Given the description of an element on the screen output the (x, y) to click on. 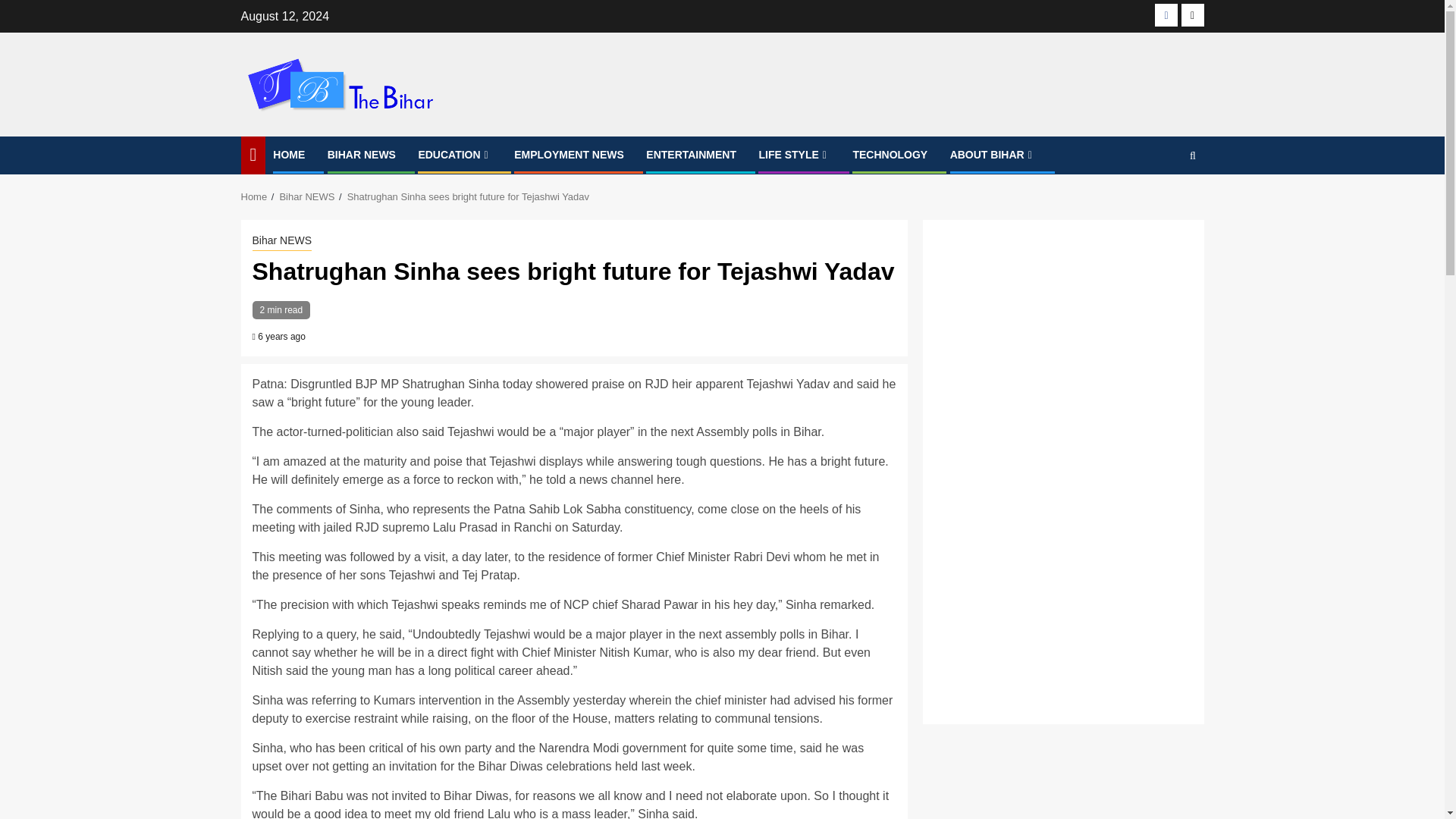
EDUCATION (454, 154)
HOME (288, 154)
Bihar NEWS (281, 240)
ENTERTAINMENT (691, 154)
Home (254, 196)
Twitter (1192, 15)
BIHAR NEWS (361, 154)
TECHNOLOGY (889, 154)
Bihar NEWS (306, 196)
EMPLOYMENT NEWS (568, 154)
